Given the description of an element on the screen output the (x, y) to click on. 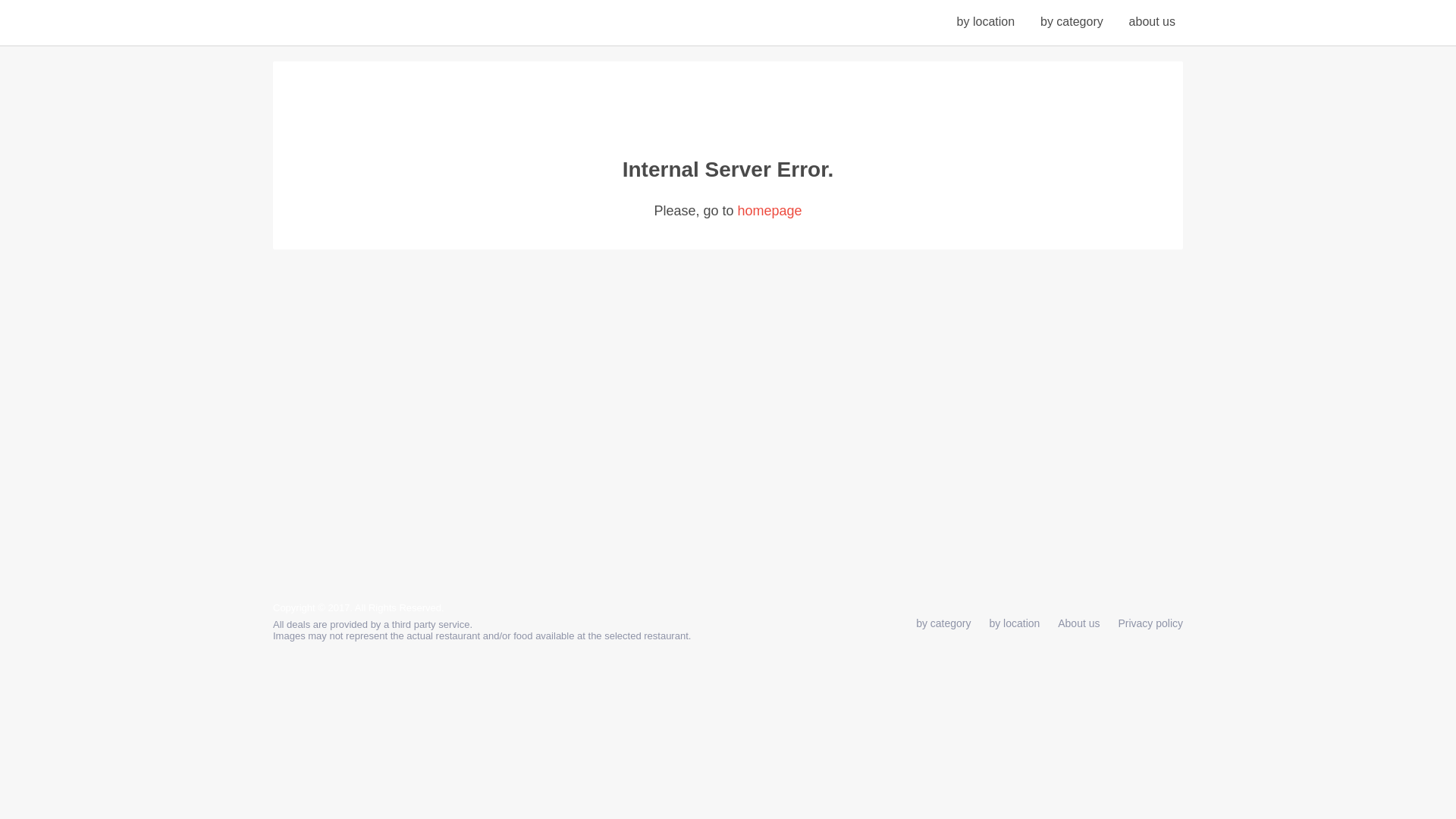
Restaurants by location (985, 21)
by category (1072, 21)
about us (1151, 21)
Restaurants by category (1072, 21)
homepage (769, 210)
by category (943, 623)
Privacy policy (1150, 623)
Restaurants.com (369, 24)
About us (1151, 21)
About us (1078, 623)
